Given the description of an element on the screen output the (x, y) to click on. 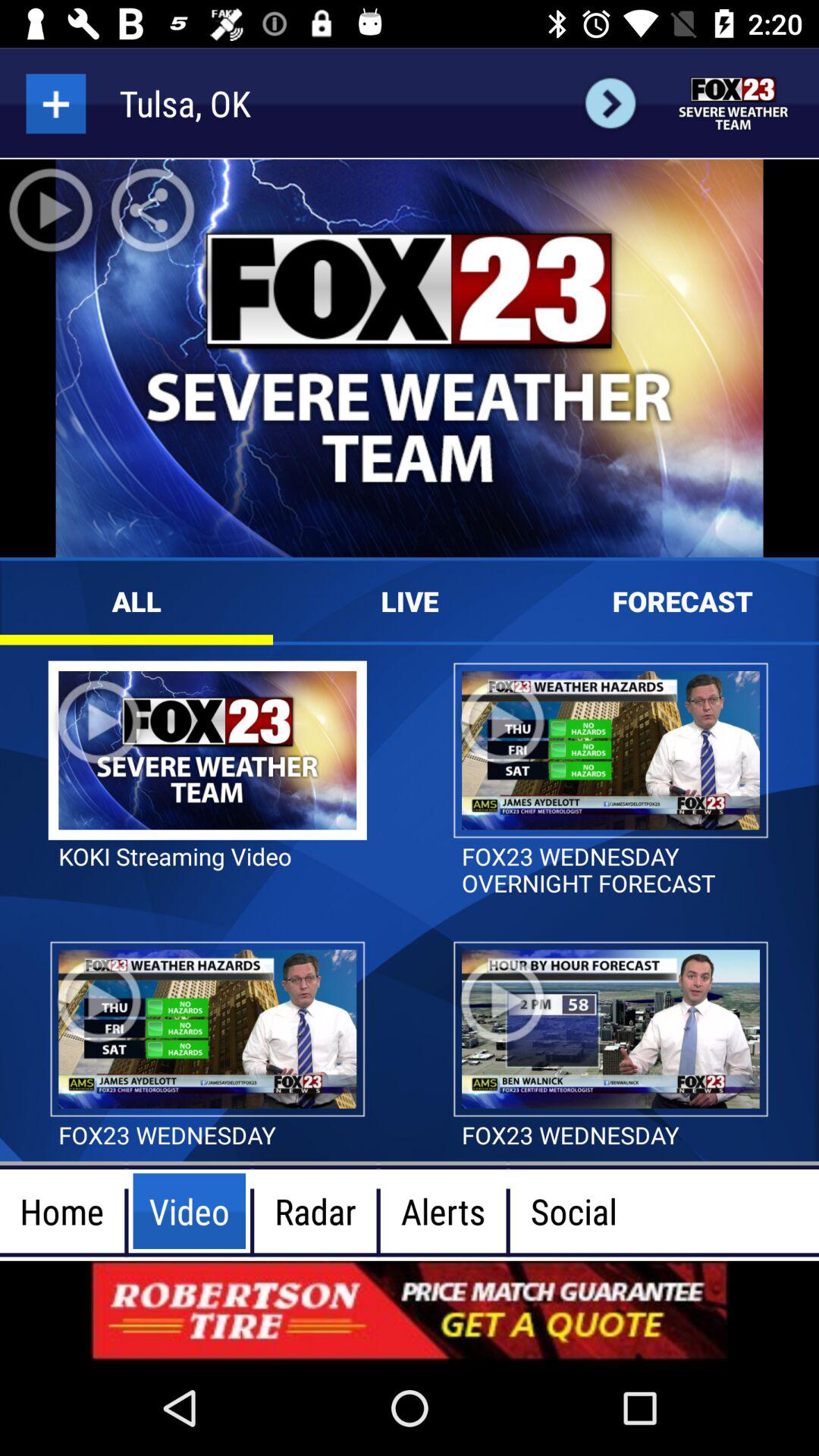
go to home (734, 103)
